Given the description of an element on the screen output the (x, y) to click on. 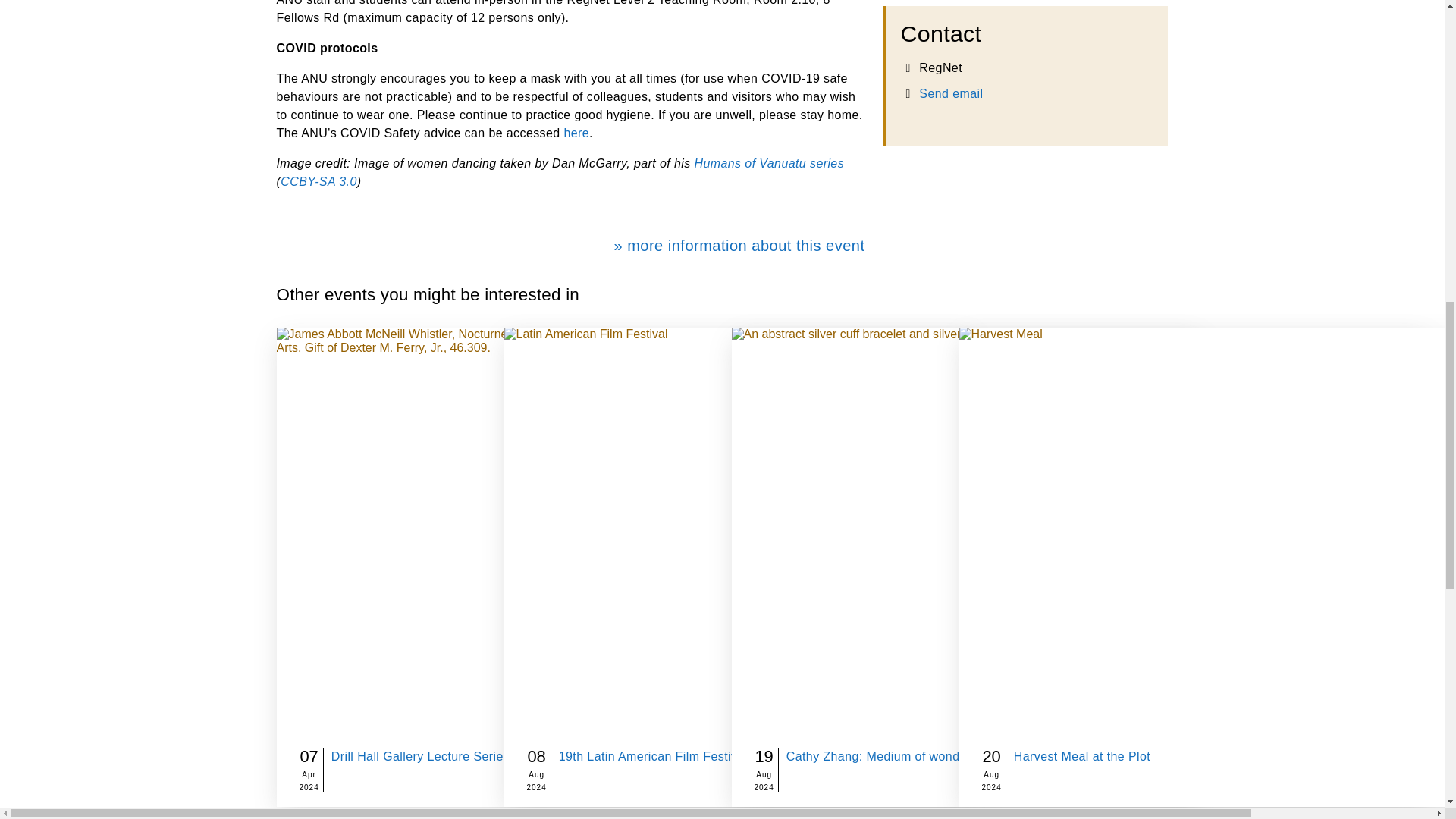
here (576, 132)
Send email (950, 92)
CCBY-SA 3.0 (318, 181)
Humans of Vanuatu series (769, 163)
